Given the description of an element on the screen output the (x, y) to click on. 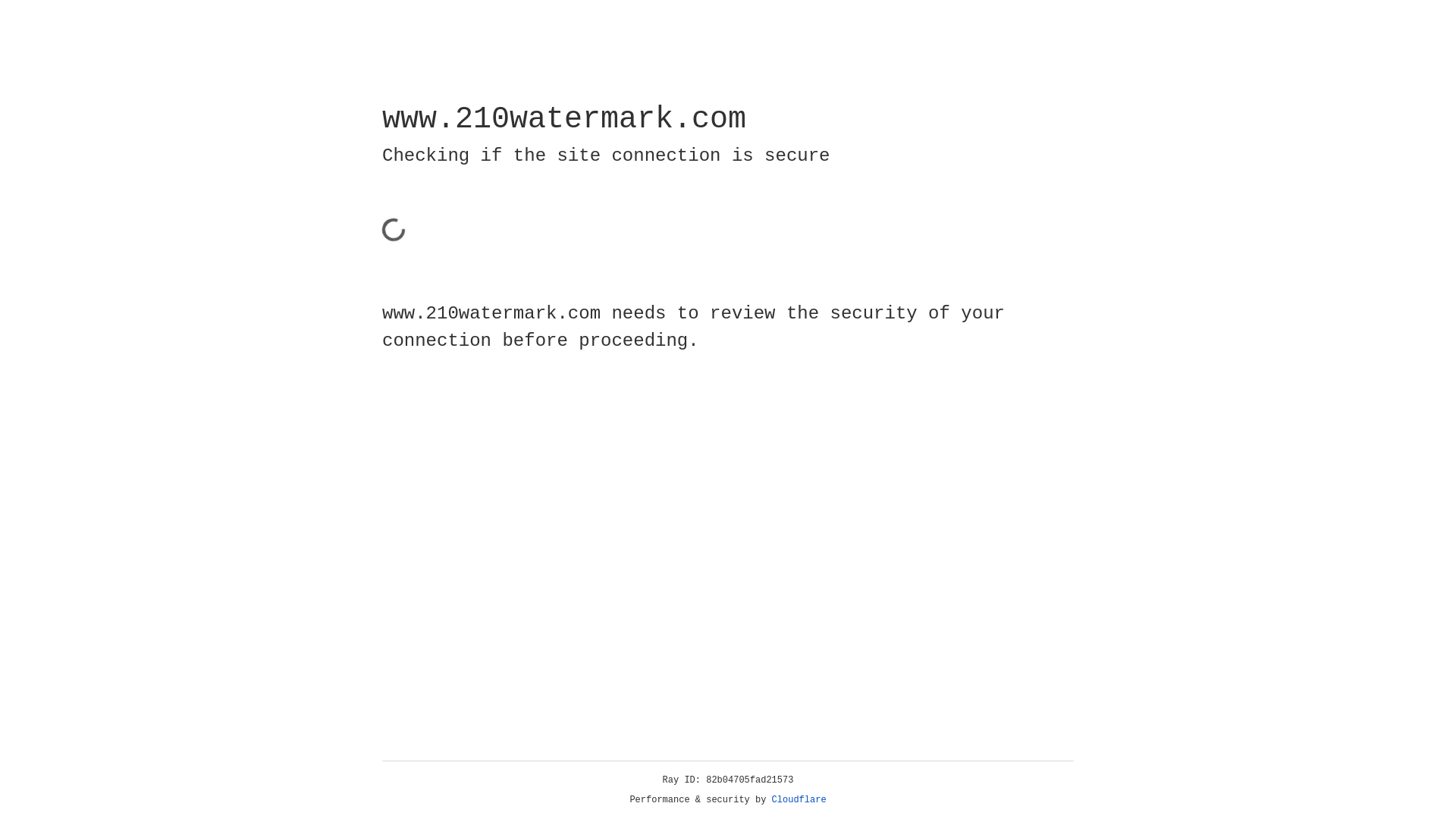
Cloudflare Element type: text (798, 799)
